Given the description of an element on the screen output the (x, y) to click on. 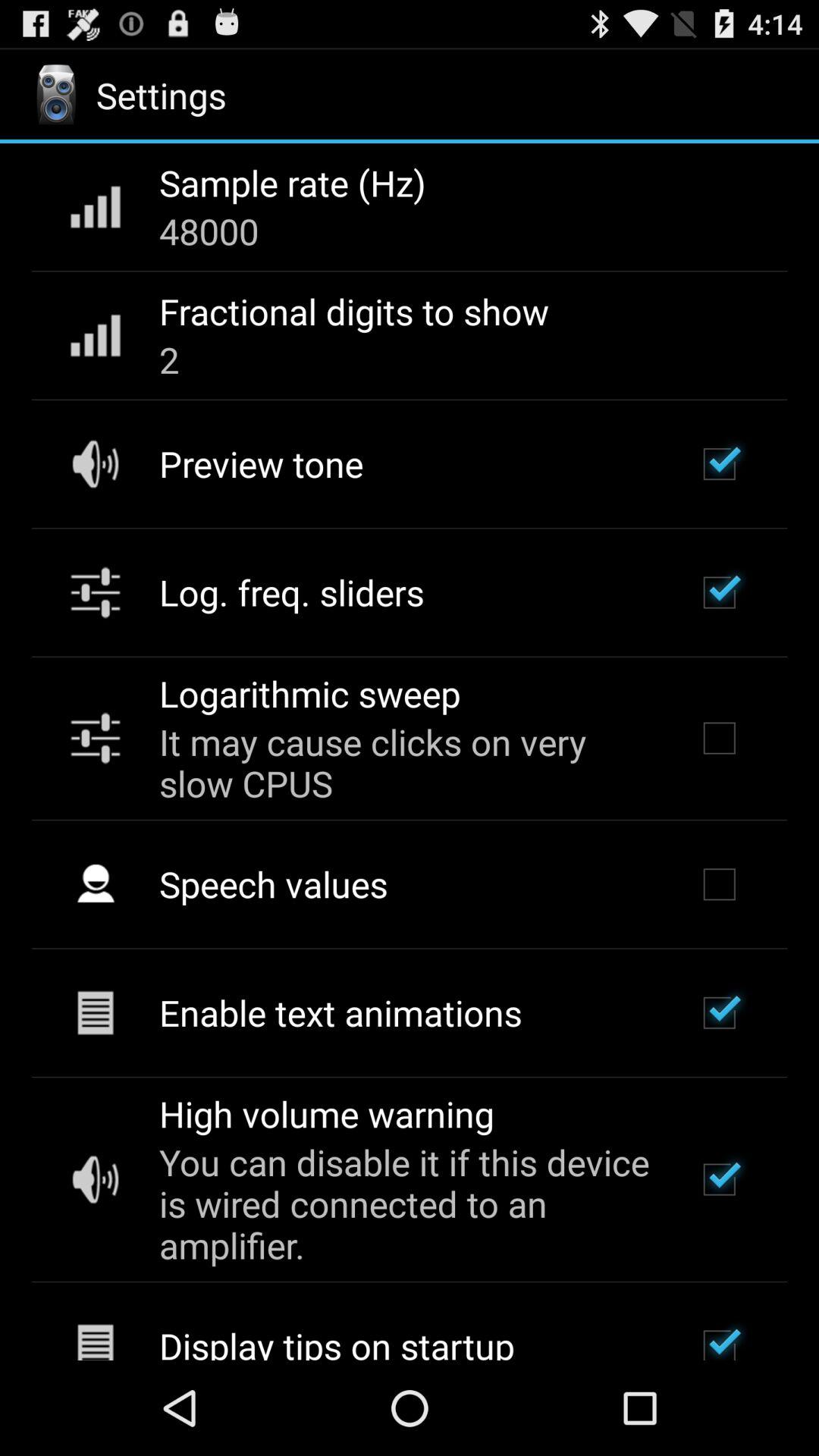
swipe until the preview tone (261, 463)
